Given the description of an element on the screen output the (x, y) to click on. 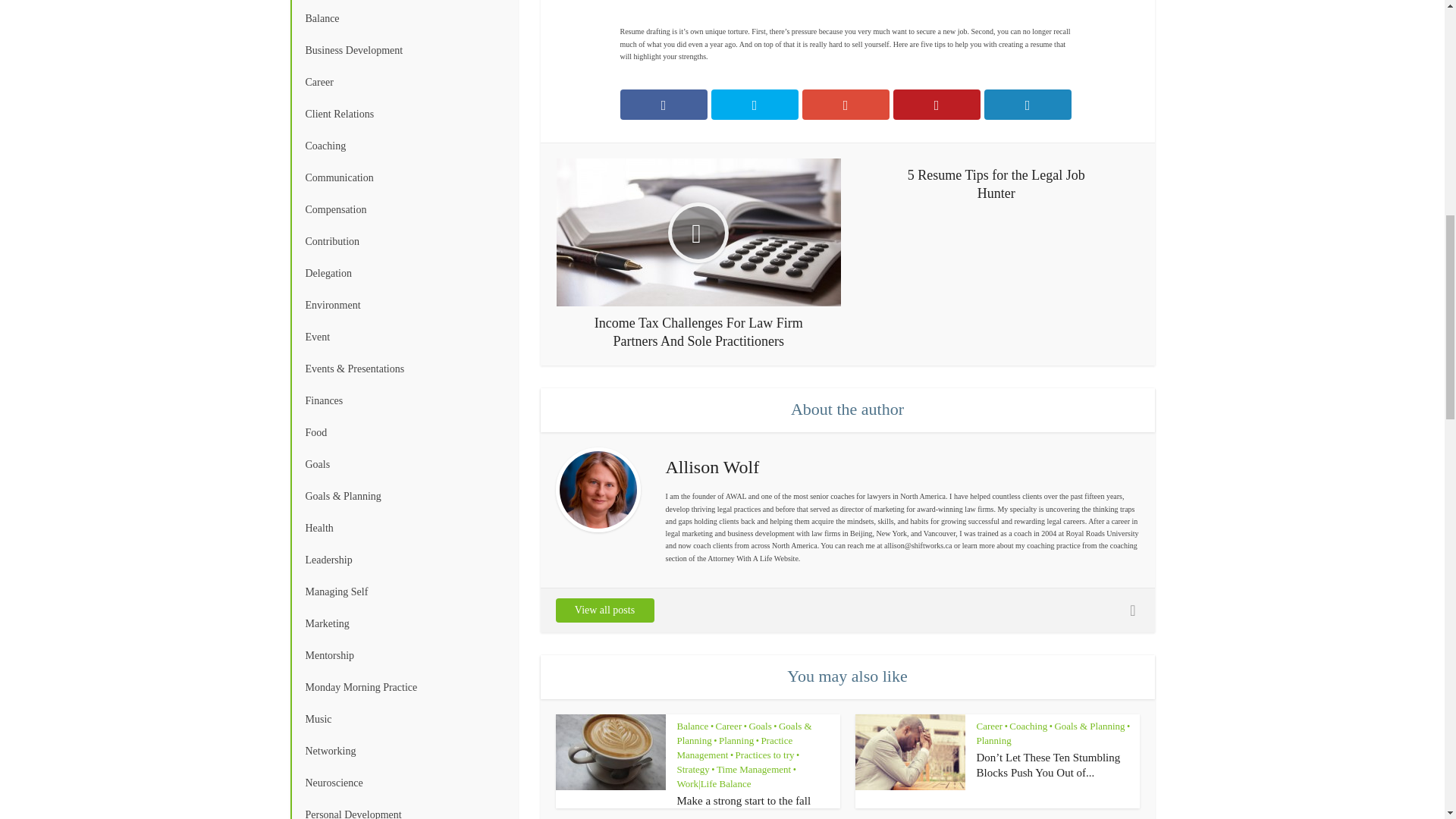
Goals (402, 464)
Marketing (402, 623)
Event (402, 336)
Food (402, 432)
Compensation (402, 210)
Client Relations (402, 114)
Appreciation (402, 1)
Delegation (402, 273)
Health (402, 528)
Page 1 (847, 44)
Managing Self (402, 592)
Neuroscience (402, 783)
Environment (402, 305)
Career (402, 82)
Monday Morning Practice (402, 687)
